Given the description of an element on the screen output the (x, y) to click on. 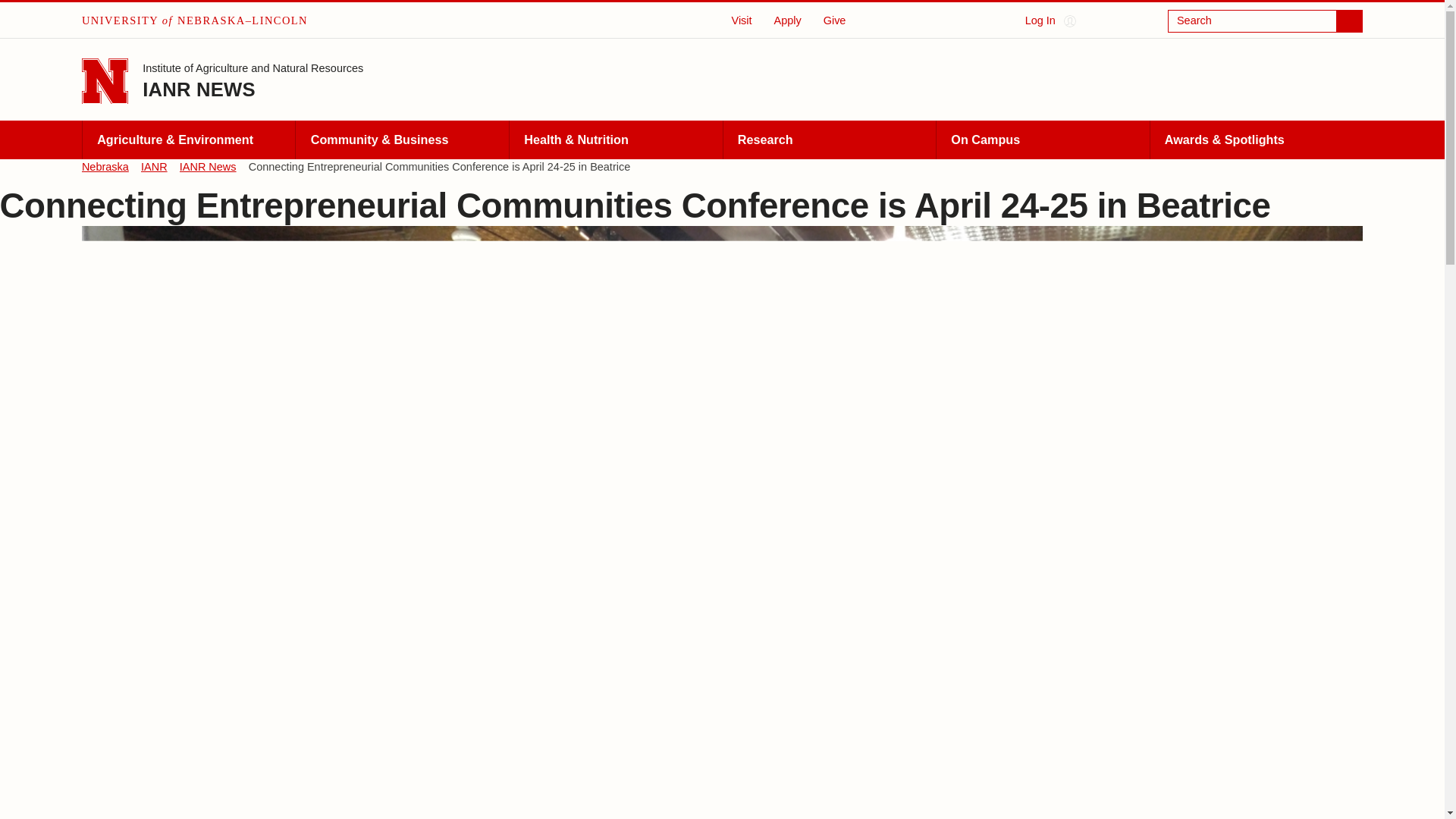
IANR NEWS (199, 88)
IANR News (207, 167)
Search (1264, 21)
IANR (154, 167)
Apply (787, 20)
Log In (1050, 21)
Research (829, 139)
Give (834, 20)
Visit (741, 20)
Nebraska (105, 167)
